Given the description of an element on the screen output the (x, y) to click on. 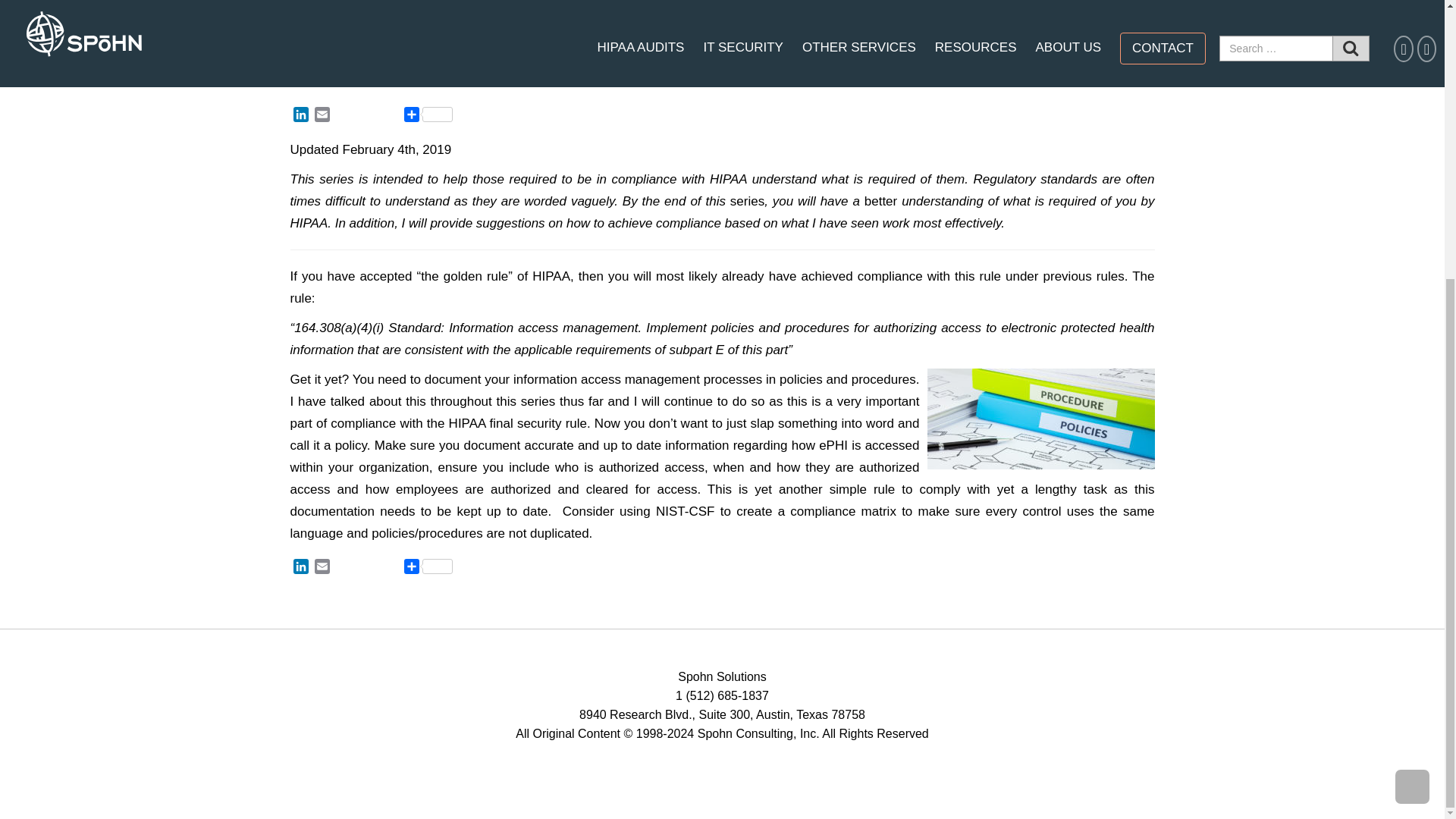
Email (321, 116)
Email (321, 568)
Caleb Thomasen (383, 47)
LinkedIn (300, 568)
LinkedIn (300, 116)
LinkedIn (300, 116)
Email (321, 116)
